Given the description of an element on the screen output the (x, y) to click on. 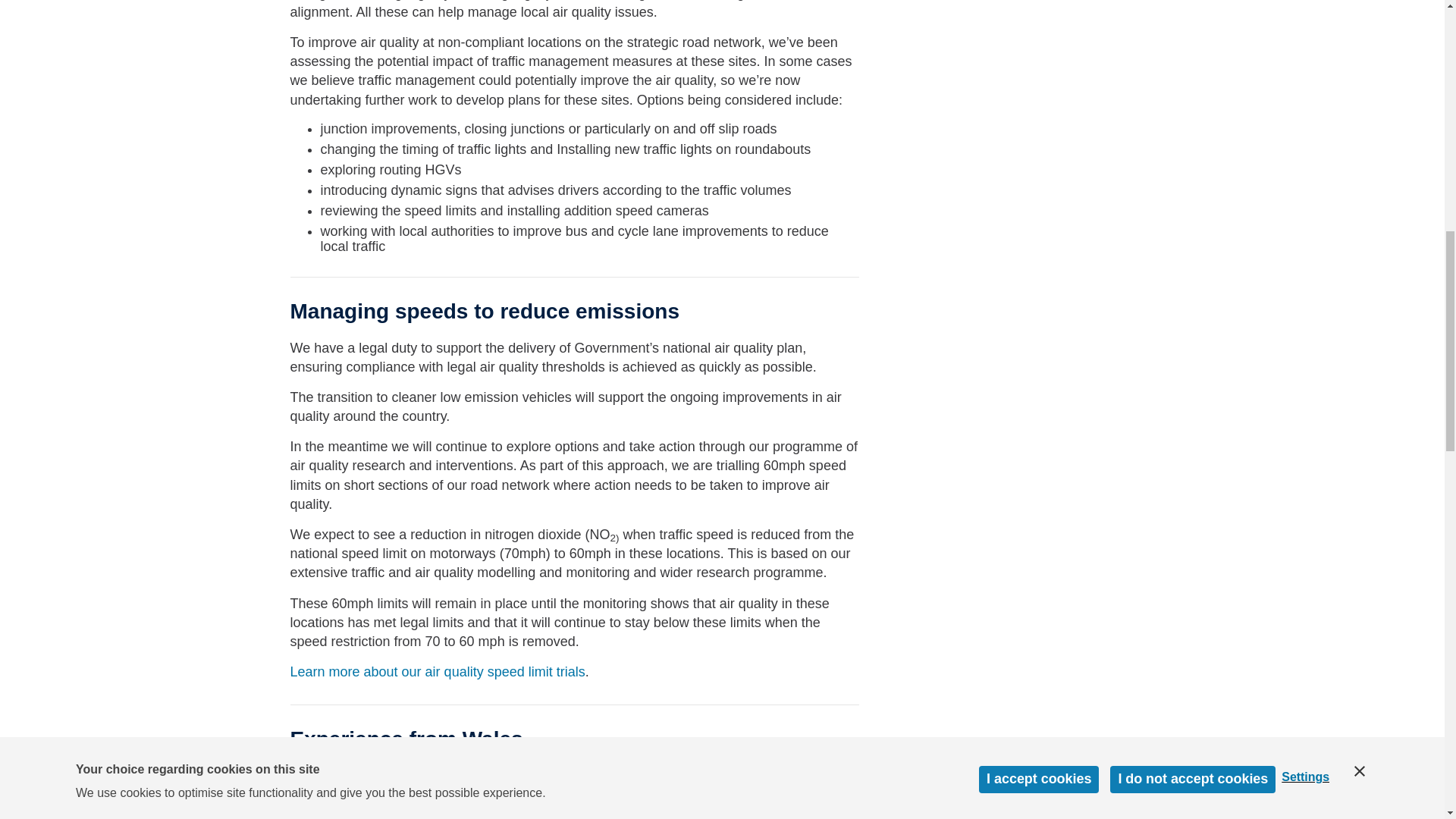
Learn more about our air quality speed limit trials (437, 671)
i do not accept cookies (1192, 7)
i accept cookies (1038, 16)
Settings (1312, 4)
Air quality speed limit trials (437, 671)
